Given the description of an element on the screen output the (x, y) to click on. 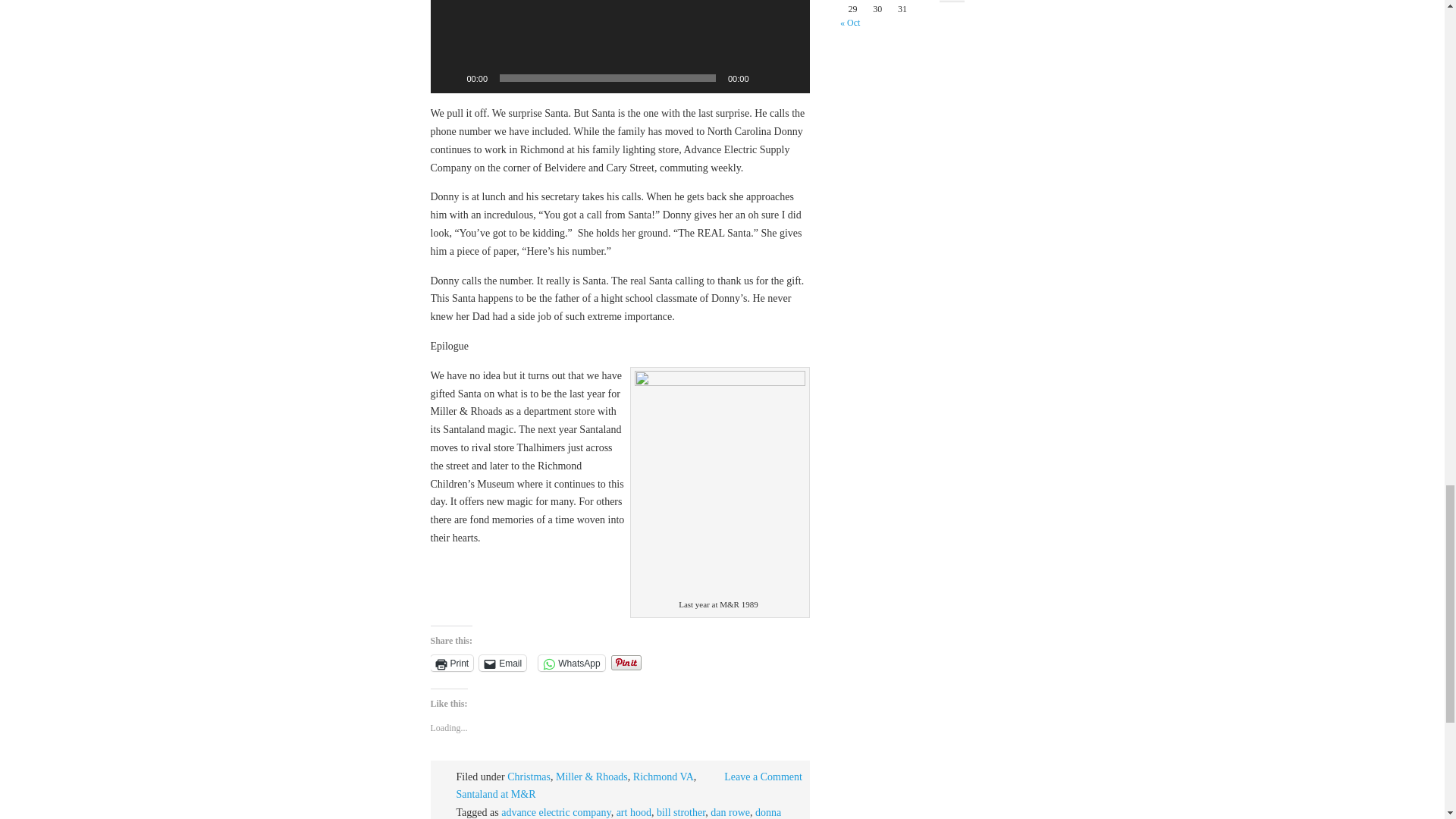
donna deekens (619, 812)
Mute (765, 77)
Leave a Comment (762, 776)
Email (502, 662)
Print (452, 662)
Richmond VA (663, 776)
WhatsApp (571, 662)
art hood (632, 812)
advance electric company (555, 812)
dan rowe (729, 812)
Click to share on WhatsApp (571, 662)
Click to email a link to a friend (502, 662)
Click to print (452, 662)
Fullscreen (790, 77)
Play (450, 77)
